Given the description of an element on the screen output the (x, y) to click on. 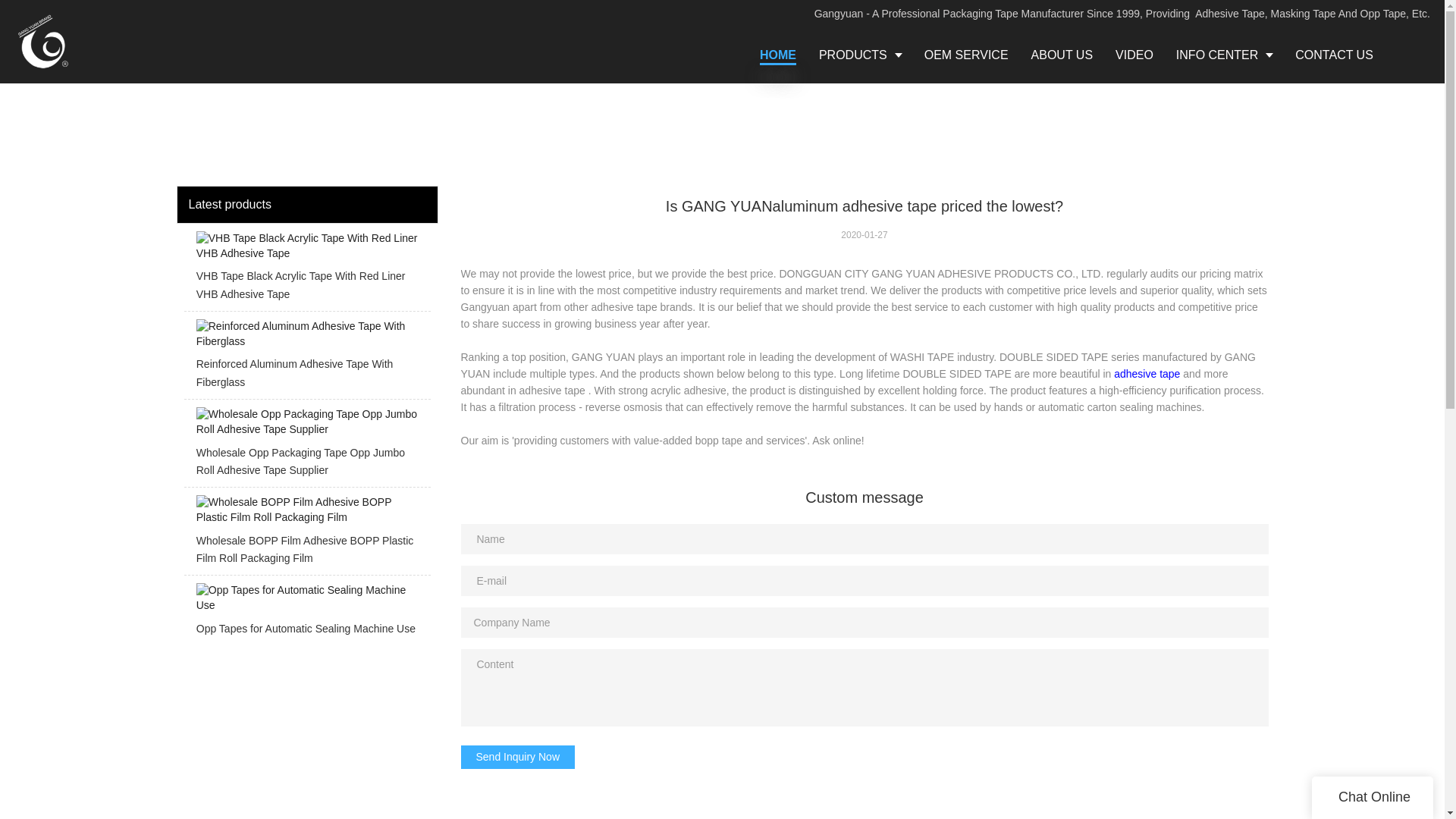
Opp Tapes for Automatic Sealing Machine Use (306, 613)
ABOUT US (1062, 55)
PRODUCTS (860, 55)
VHB Tape Black Acrylic Tape With Red Liner VHB Adhesive Tape (306, 270)
HOME (778, 55)
adhesive tape (1146, 373)
Reinforced Aluminum Adhesive Tape With Fiberglass (306, 358)
Send Inquiry Now (518, 756)
INFO CENTER (1224, 55)
OEM SERVICE (966, 55)
CONTACT US (1334, 55)
VIDEO (1133, 55)
